Given the description of an element on the screen output the (x, y) to click on. 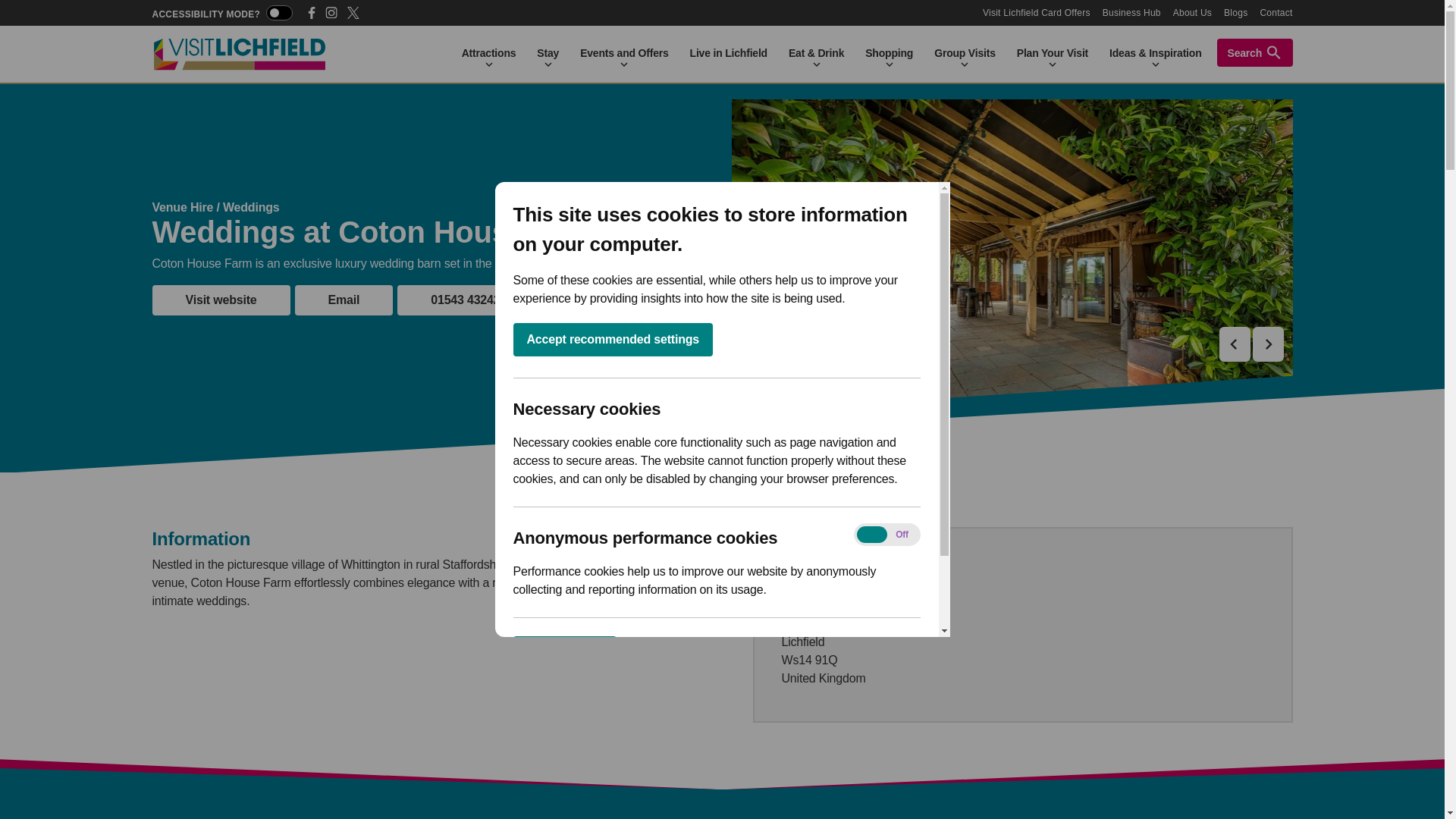
Shopping (888, 52)
Visit Lichfield Card Offers (1036, 12)
About Us (1192, 12)
Visit Lichfield Twitter (353, 12)
Visit Lichfield Instagram (330, 12)
Group Visits (964, 52)
Attractions (488, 52)
Stay (547, 52)
Business Hub (1131, 12)
Plan Your Visit (1052, 52)
